Given the description of an element on the screen output the (x, y) to click on. 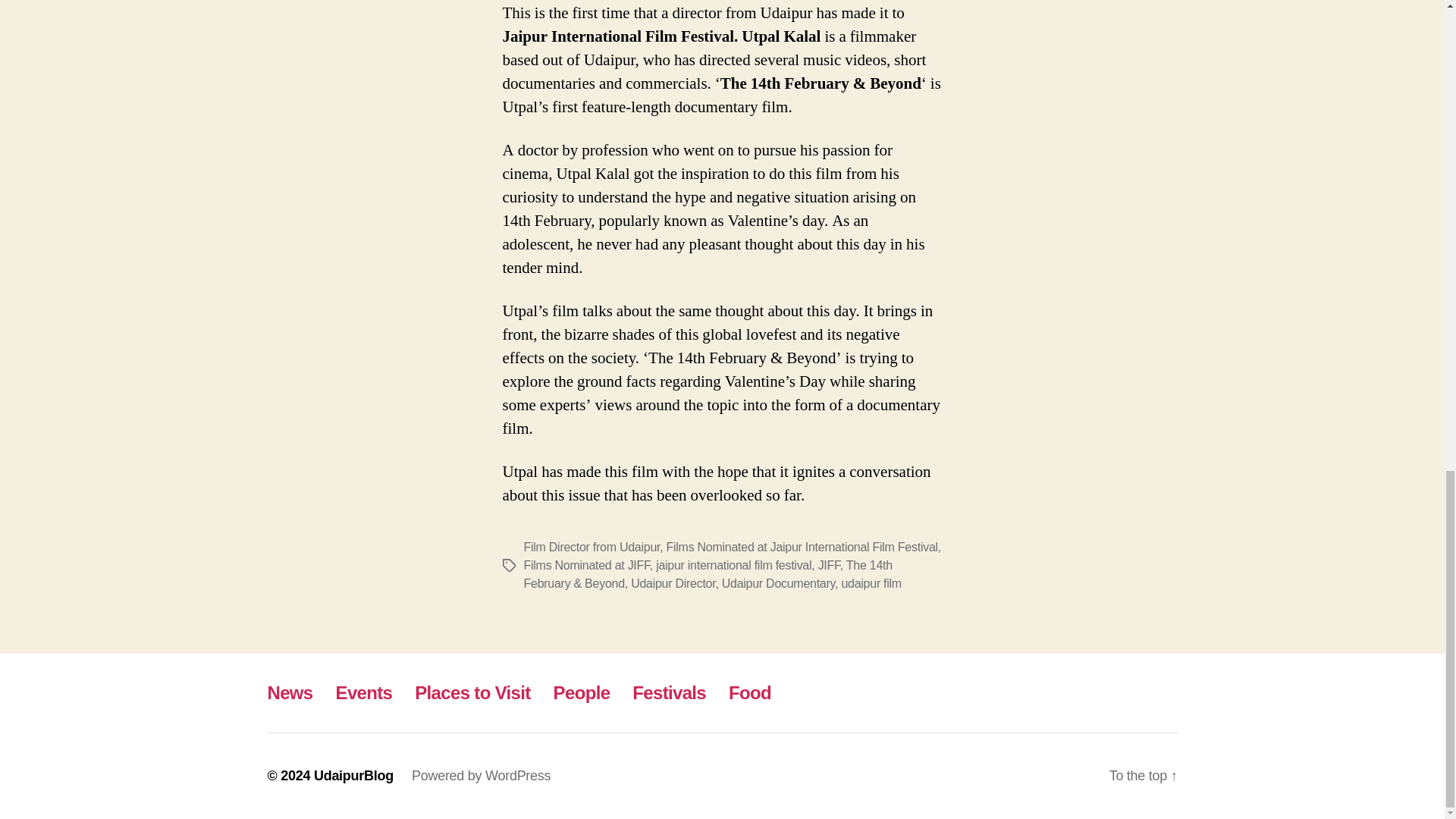
Films Nominated at JIFF (585, 564)
Film Director from Udaipur (590, 546)
jaipur international film festival (733, 564)
Udaipur Director (672, 583)
JIFF (829, 564)
Films Nominated at Jaipur International Film Festival (801, 546)
